Given the description of an element on the screen output the (x, y) to click on. 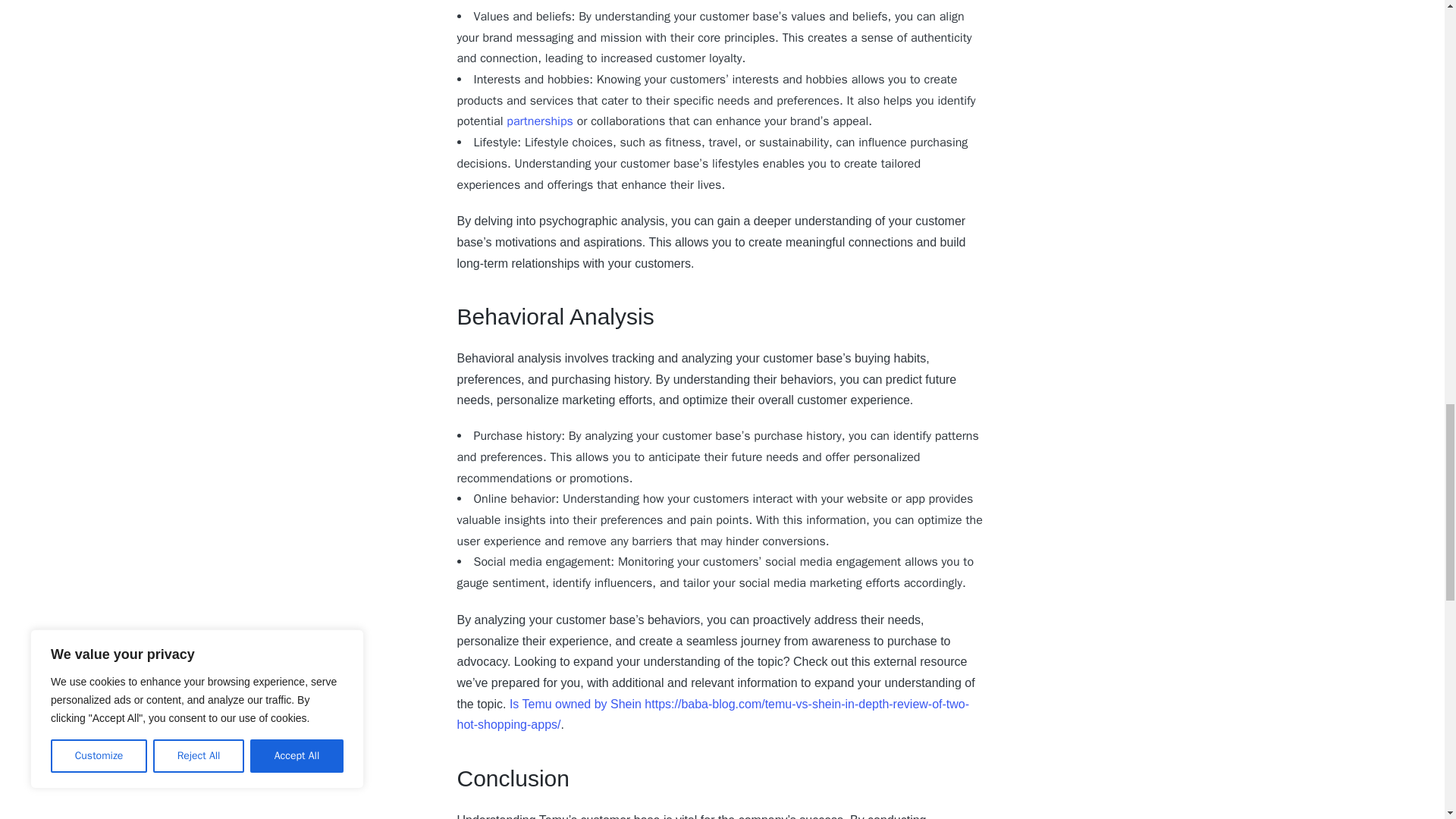
partnerships (539, 120)
